Given the description of an element on the screen output the (x, y) to click on. 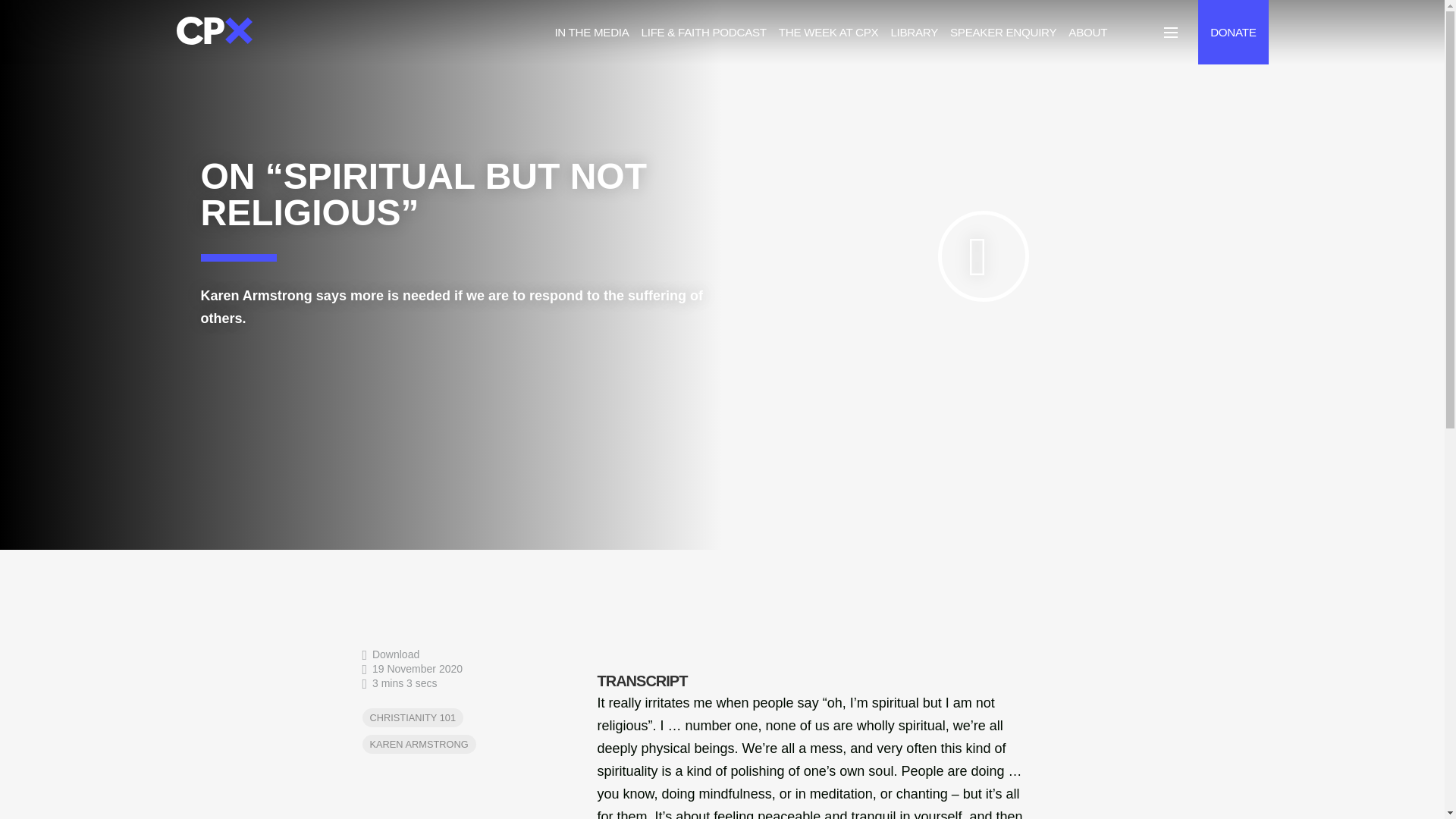
Return to the Homepage (213, 32)
DONATE (1233, 32)
Right click and select'Save file as...' (391, 653)
THE WEEK AT CPX (828, 32)
IN THE MEDIA (591, 32)
SPEAKER ENQUIRY (1003, 32)
